Given the description of an element on the screen output the (x, y) to click on. 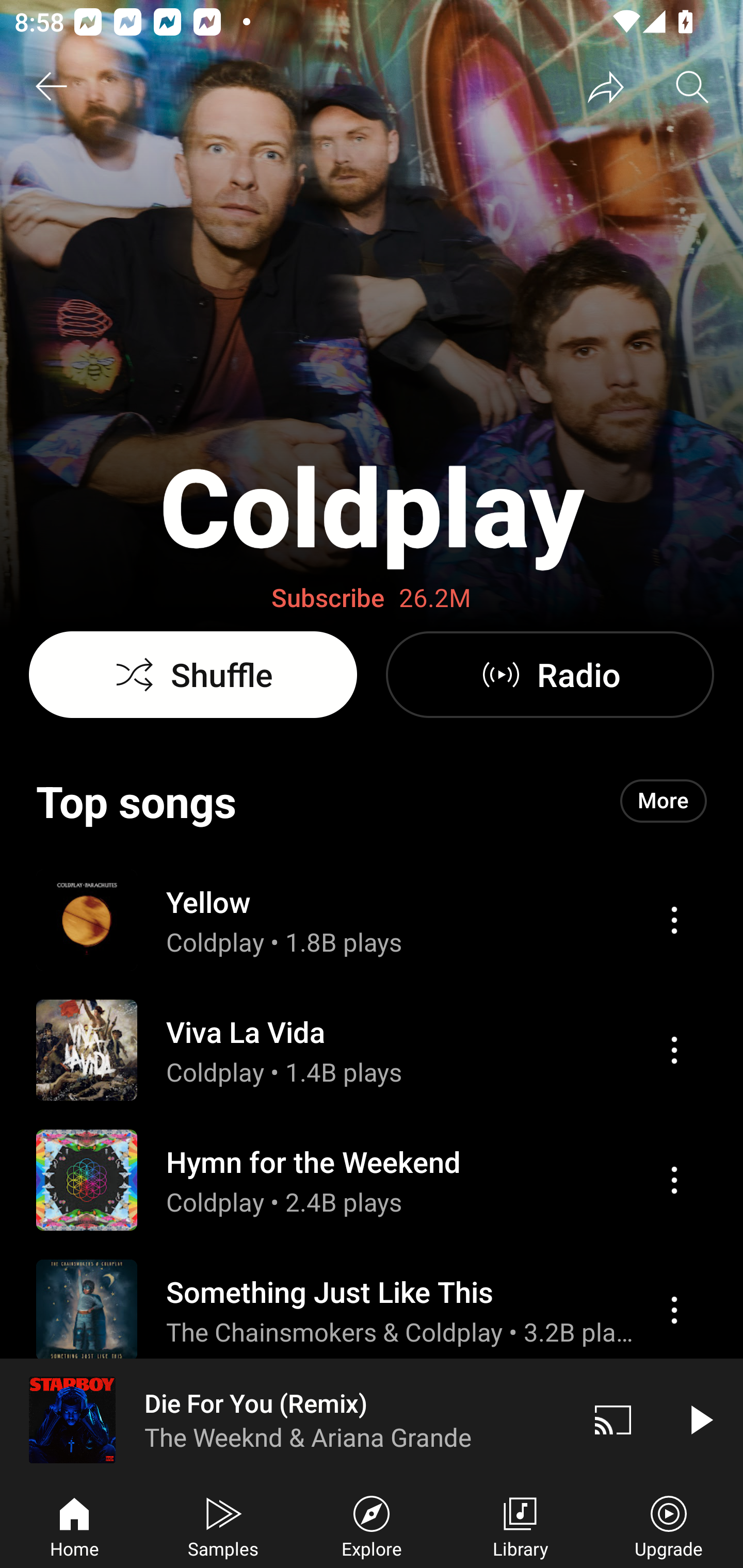
Back (50, 86)
Share (605, 86)
Search (692, 86)
Subscribe 26.2M (371, 598)
Shuffle (192, 674)
Radio (549, 674)
Action menu (371, 919)
Action menu (673, 920)
Action menu (371, 1049)
Action menu (673, 1050)
Action menu (371, 1179)
Action menu (673, 1179)
Action menu (371, 1309)
Action menu (673, 1310)
Action menu (371, 1428)
Cast. Disconnected (612, 1419)
Play video (699, 1419)
Home (74, 1524)
Samples (222, 1524)
Explore (371, 1524)
Library (519, 1524)
Upgrade (668, 1524)
